Given the description of an element on the screen output the (x, y) to click on. 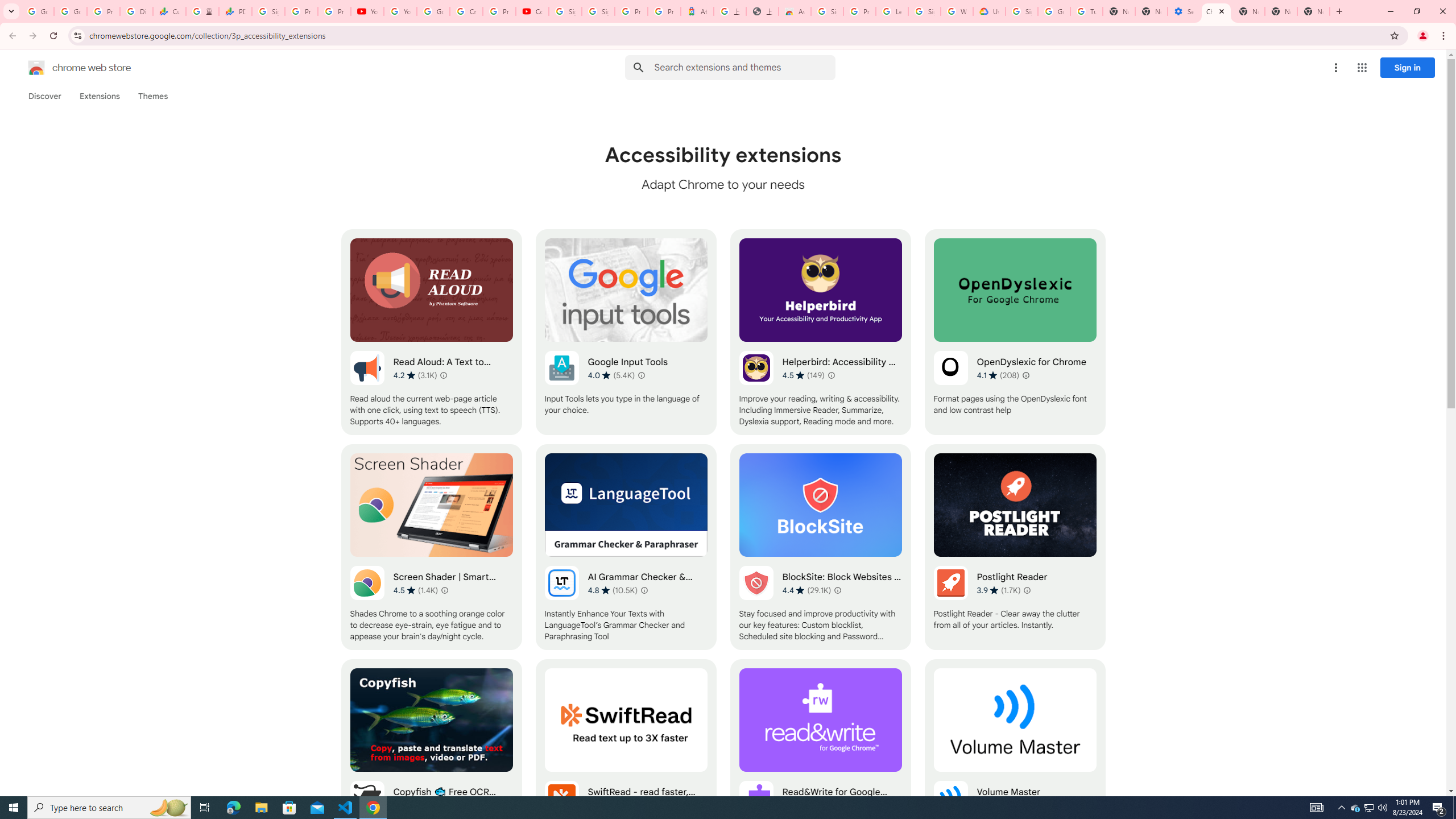
YouTube (367, 11)
Learn more about results and reviews "Google Input Tools" (641, 375)
Google Workspace Admin Community (37, 11)
Average rating 4.1 out of 5 stars. 208 ratings. (997, 375)
Average rating 4.0 out of 5 stars. 5.4K ratings. (611, 375)
Read Aloud: A Text to Speech Voice Reader (431, 331)
BlockSite: Block Websites & Stay Focused (820, 546)
